Given the description of an element on the screen output the (x, y) to click on. 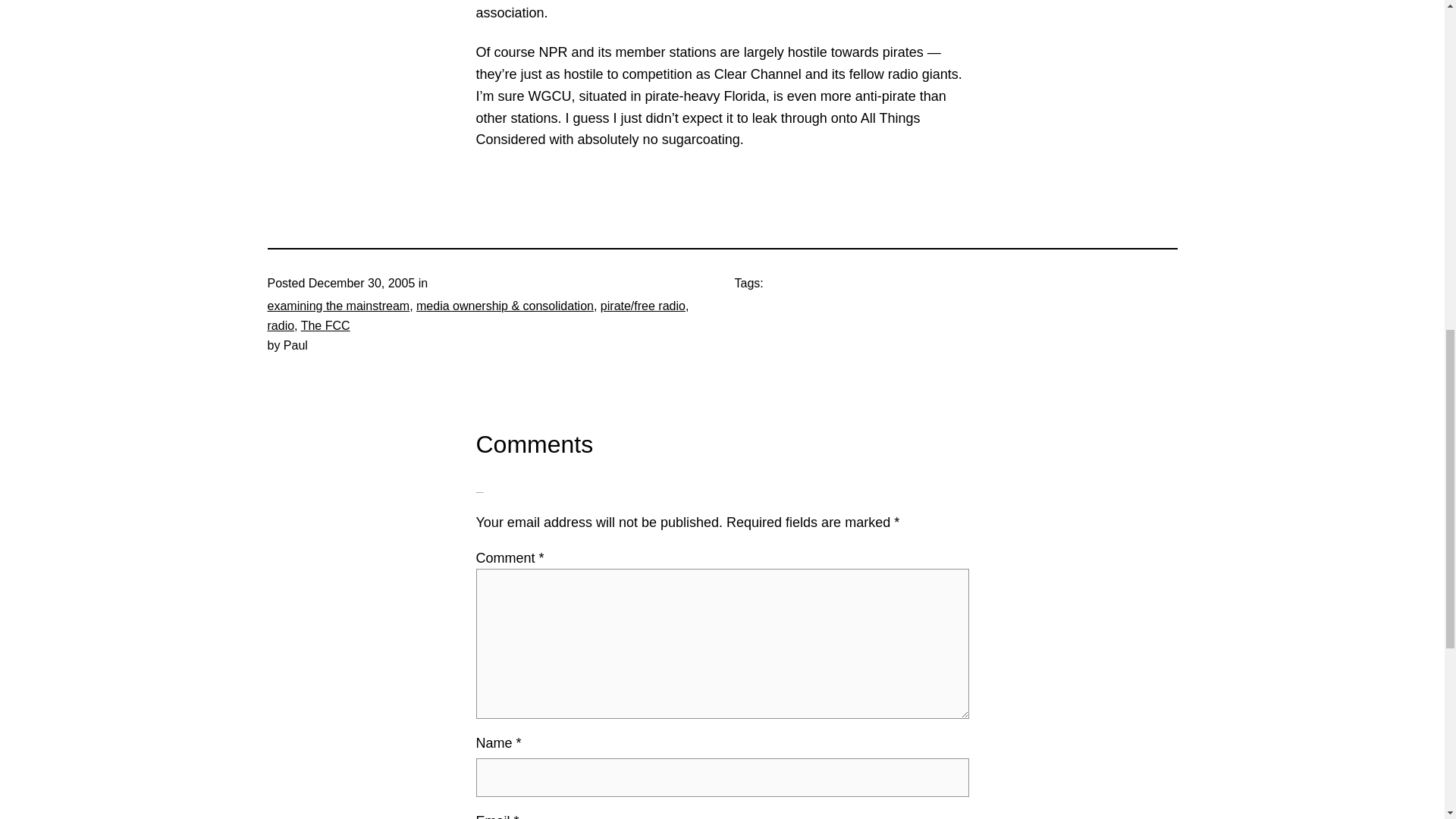
examining the mainstream (337, 305)
radio (280, 325)
The FCC (325, 325)
